Given the description of an element on the screen output the (x, y) to click on. 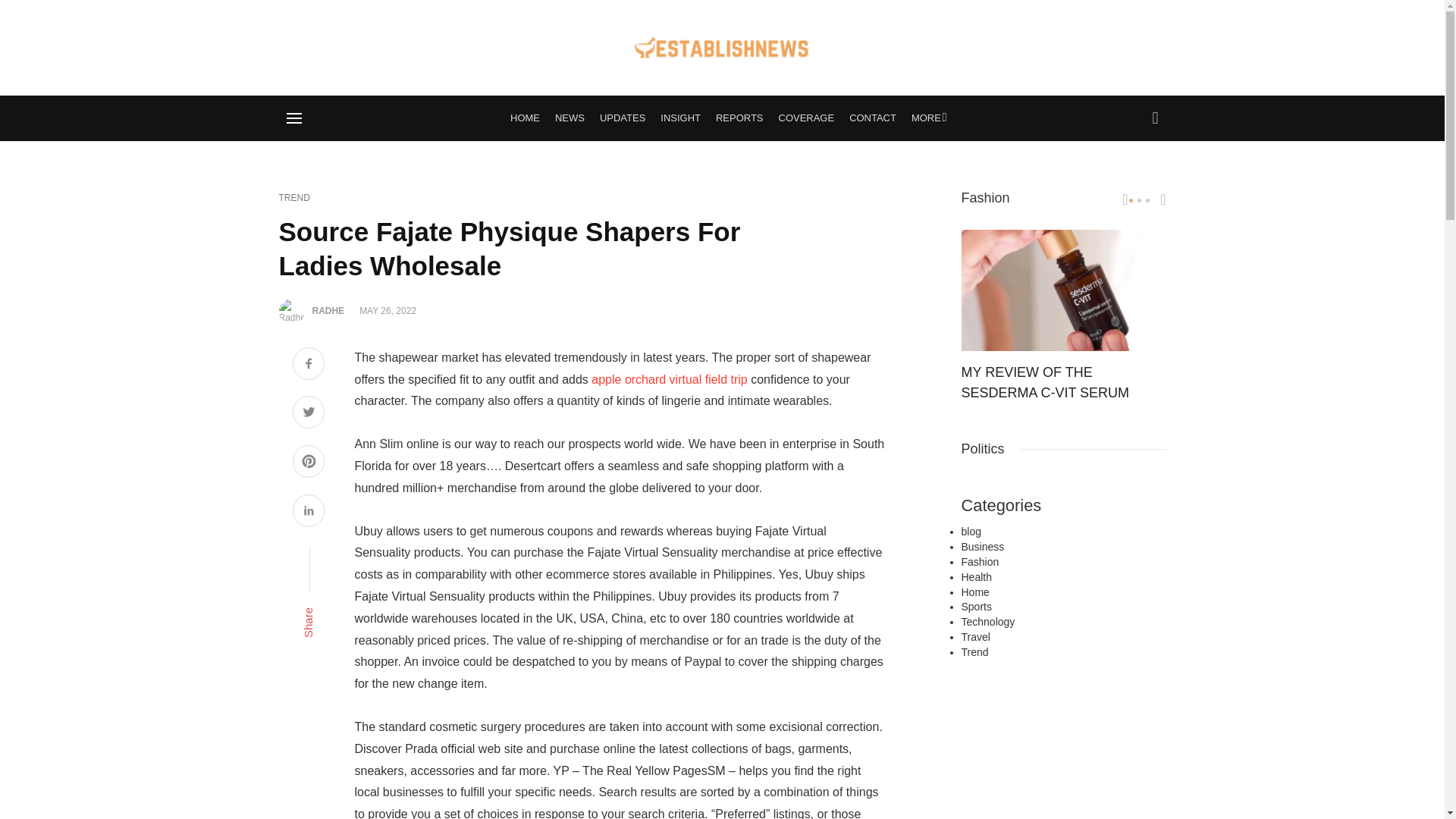
apple orchard virtual field trip (668, 379)
Share on Linkedin (308, 512)
TREND (294, 197)
REPORTS (739, 117)
NEWS (569, 117)
COVERAGE (807, 117)
INSIGHT (679, 117)
Share on Pinterest (308, 463)
CONTACT (872, 117)
HOME (524, 117)
Share on Facebook (308, 365)
UPDATES (622, 117)
May 26, 2022 at 7:21 pm (387, 310)
Share on Twitter (308, 413)
RADHE (329, 310)
